Given the description of an element on the screen output the (x, y) to click on. 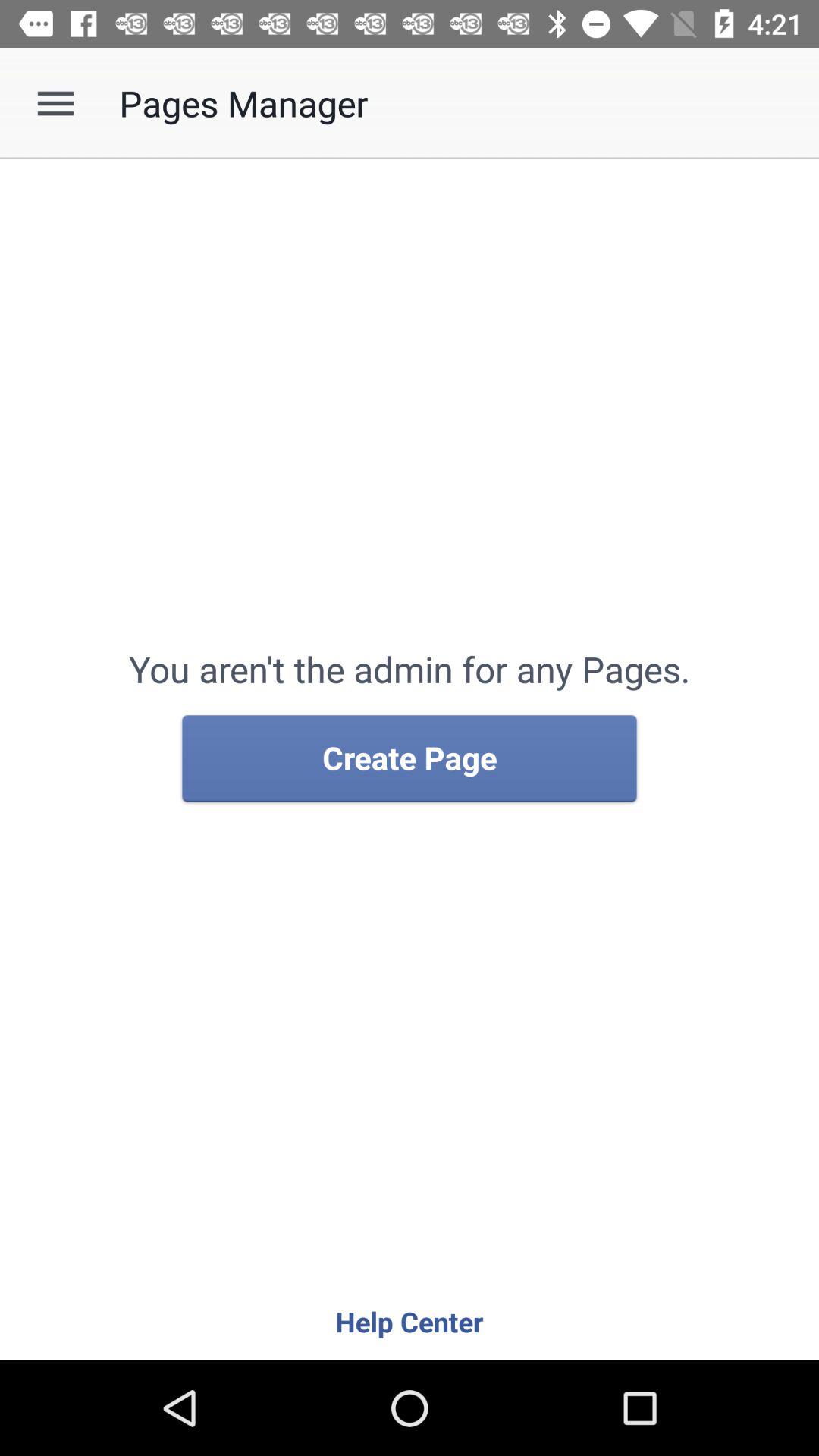
tap icon to the left of the pages manager app (55, 103)
